Given the description of an element on the screen output the (x, y) to click on. 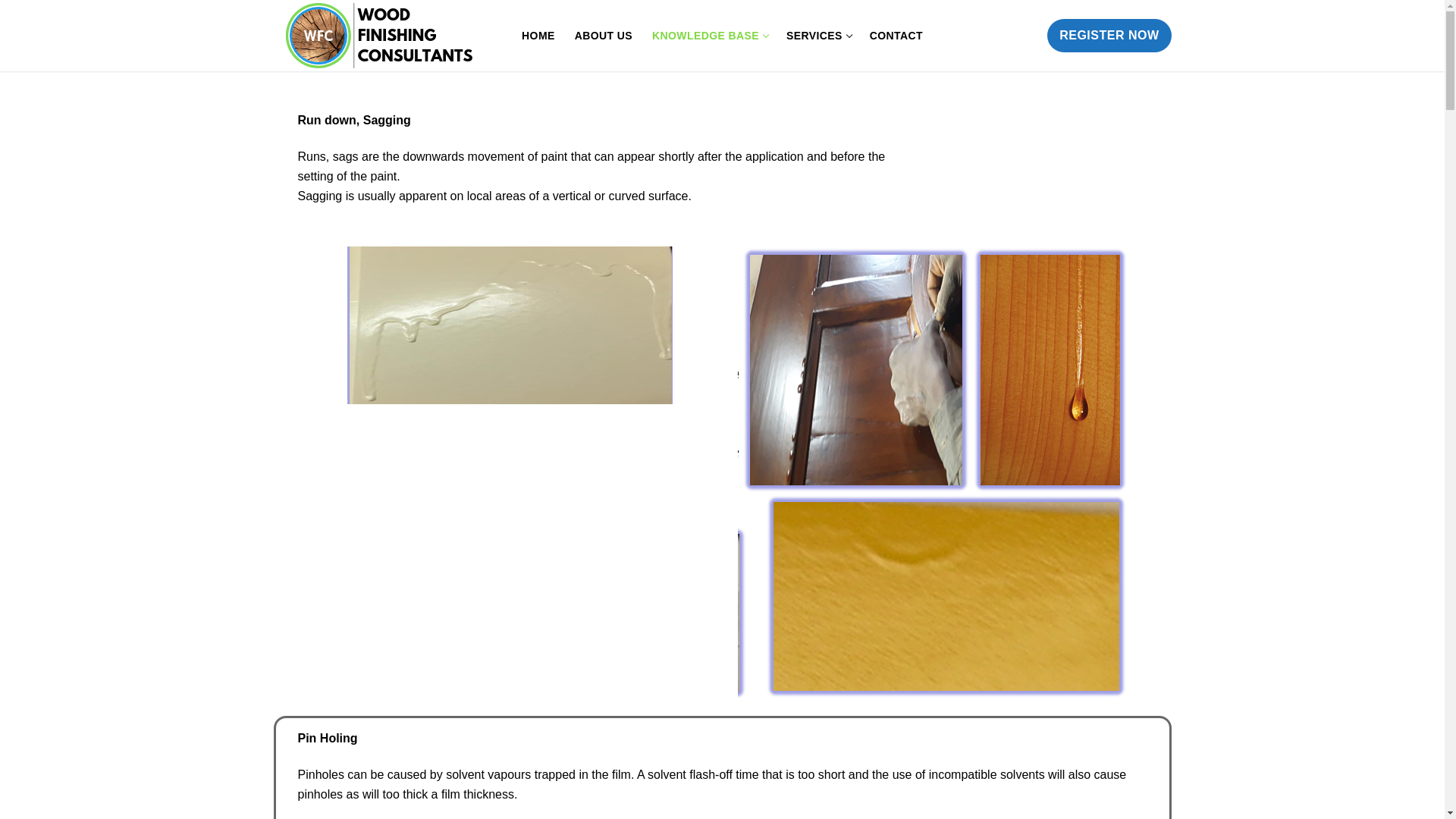
HOME (709, 35)
ABOUT US (538, 35)
